Given the description of an element on the screen output the (x, y) to click on. 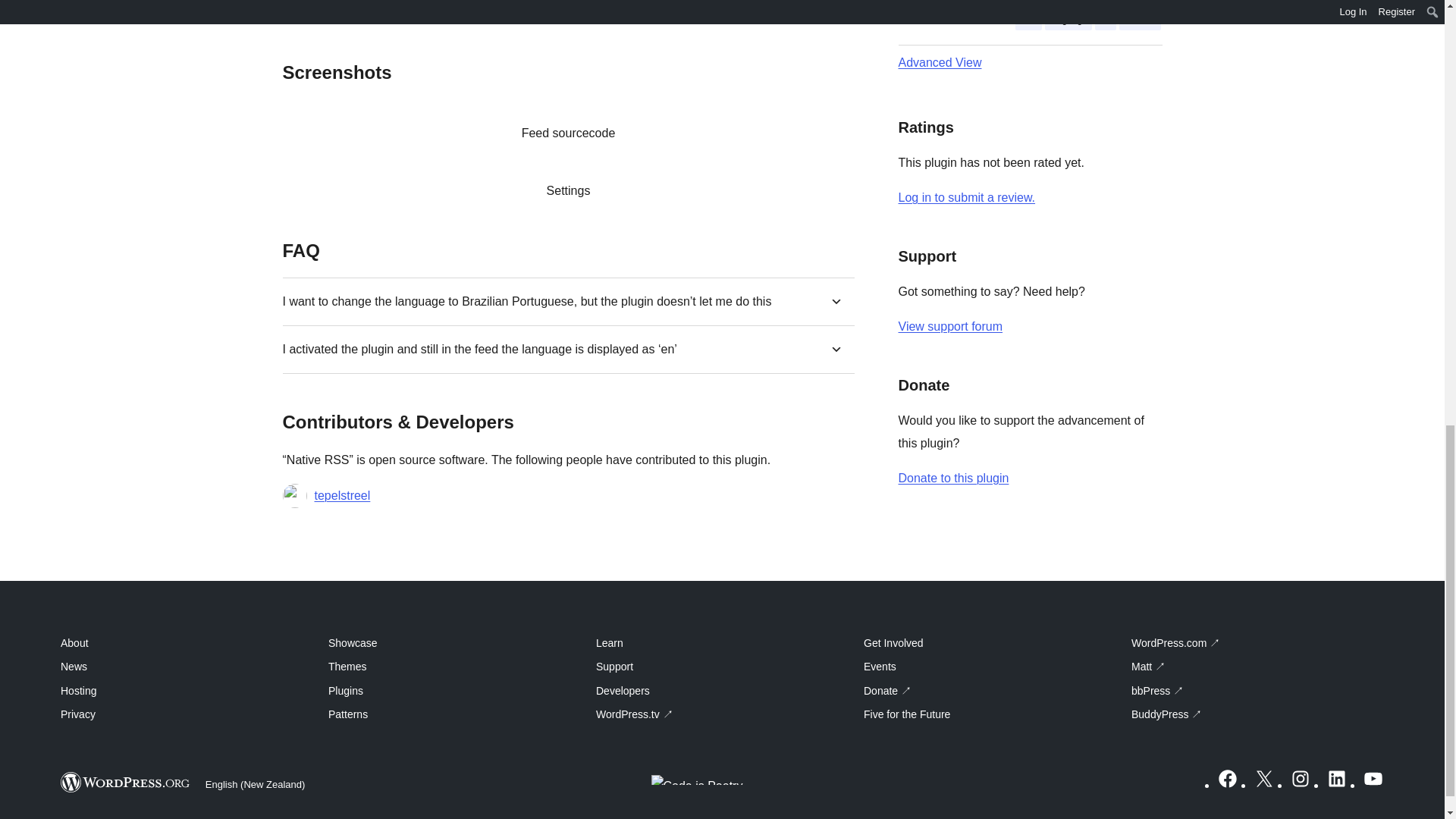
WordPress.org (125, 782)
tepelstreel (341, 495)
Log in to WordPress.org (966, 196)
